Given the description of an element on the screen output the (x, y) to click on. 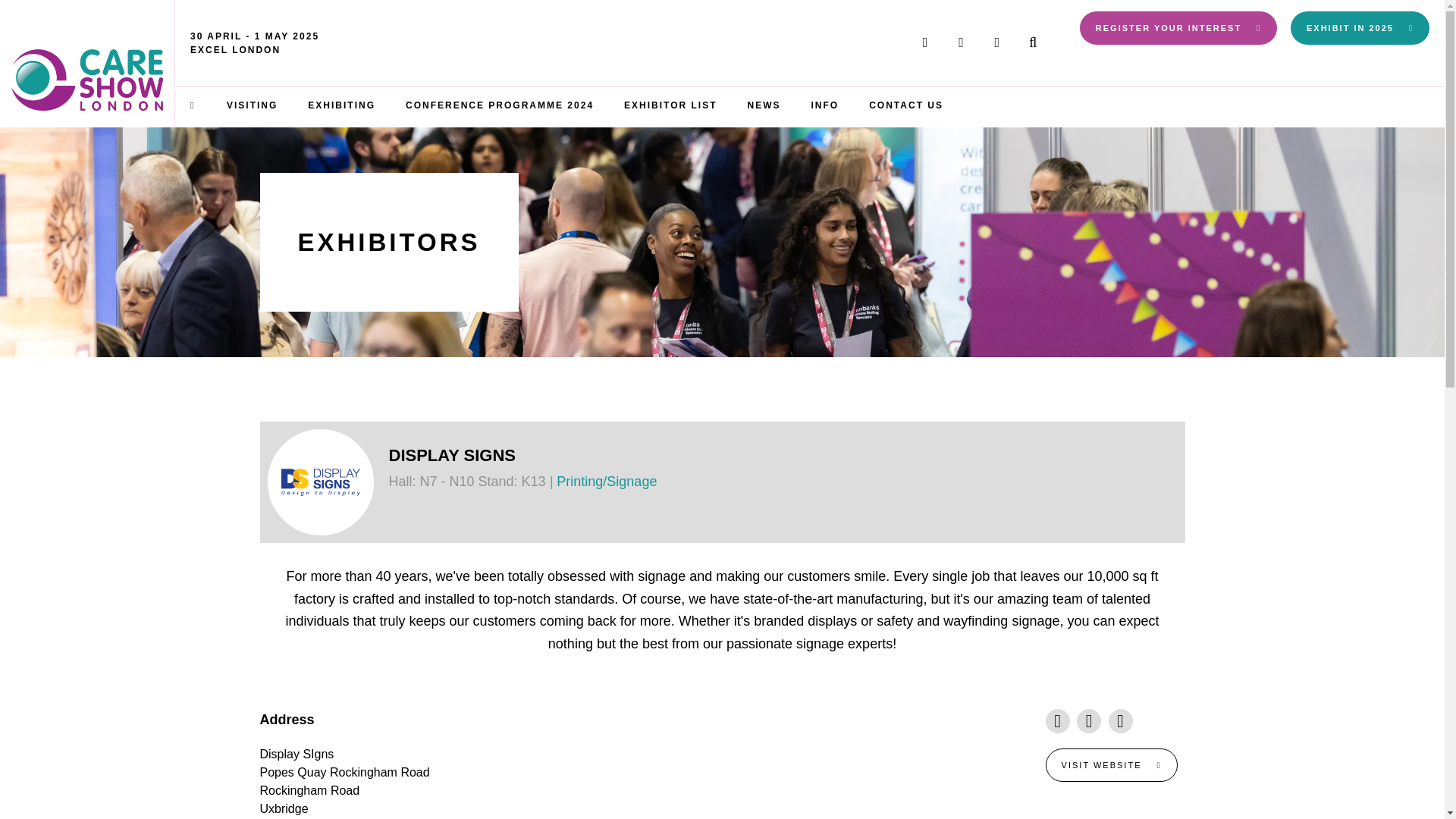
EXHIBIT IN 2025 (1359, 28)
LinkedIn (996, 42)
Search (1032, 42)
REGISTER YOUR INTEREST (1178, 28)
Twitter (924, 42)
HOME (192, 104)
Facebook (960, 42)
